Given the description of an element on the screen output the (x, y) to click on. 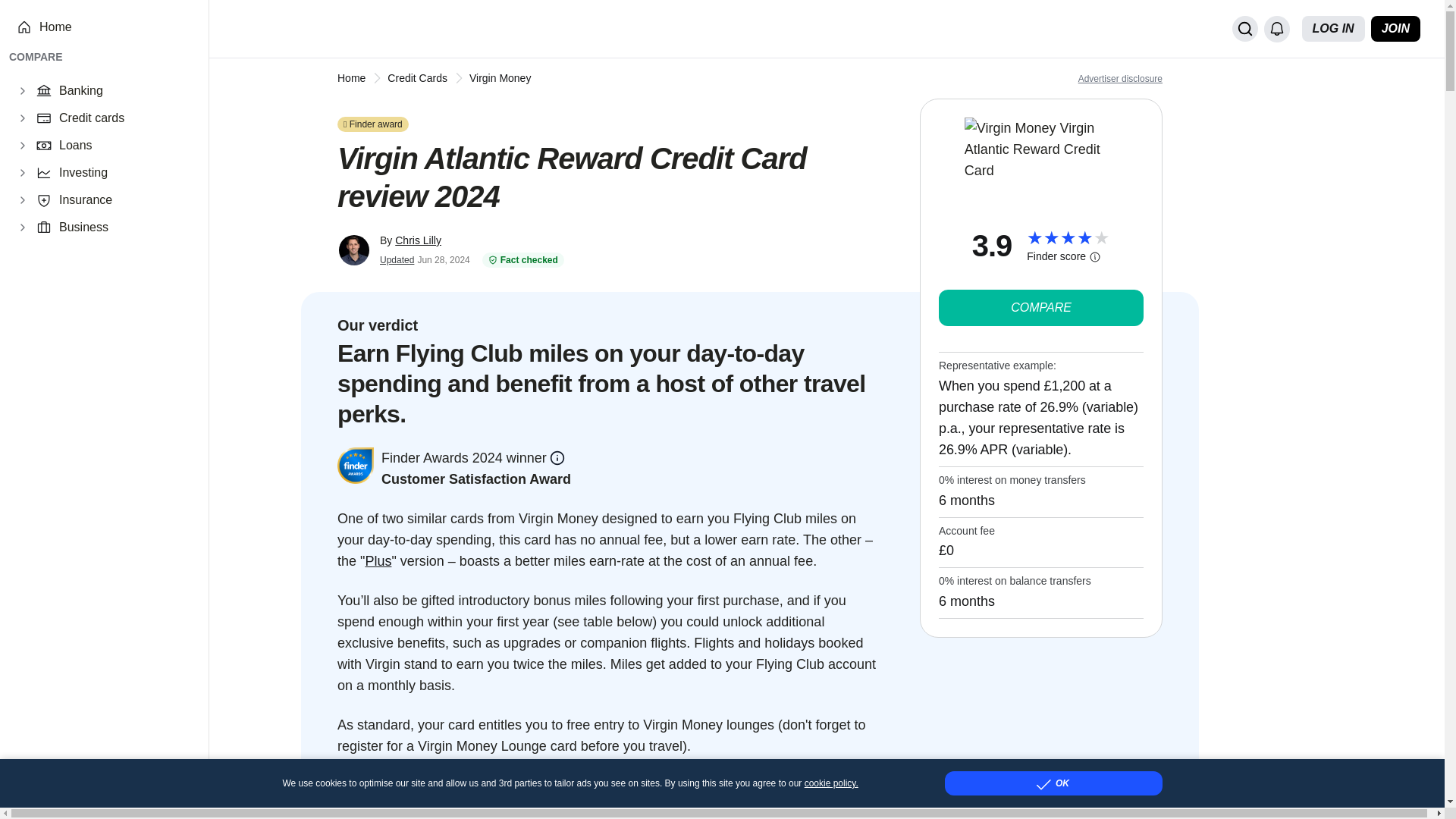
Home (114, 27)
Credit cards (124, 117)
Compare (1040, 307)
Banking (124, 90)
COMPARE (1040, 307)
Important information about this website (1119, 78)
Loans (124, 145)
